Given the description of an element on the screen output the (x, y) to click on. 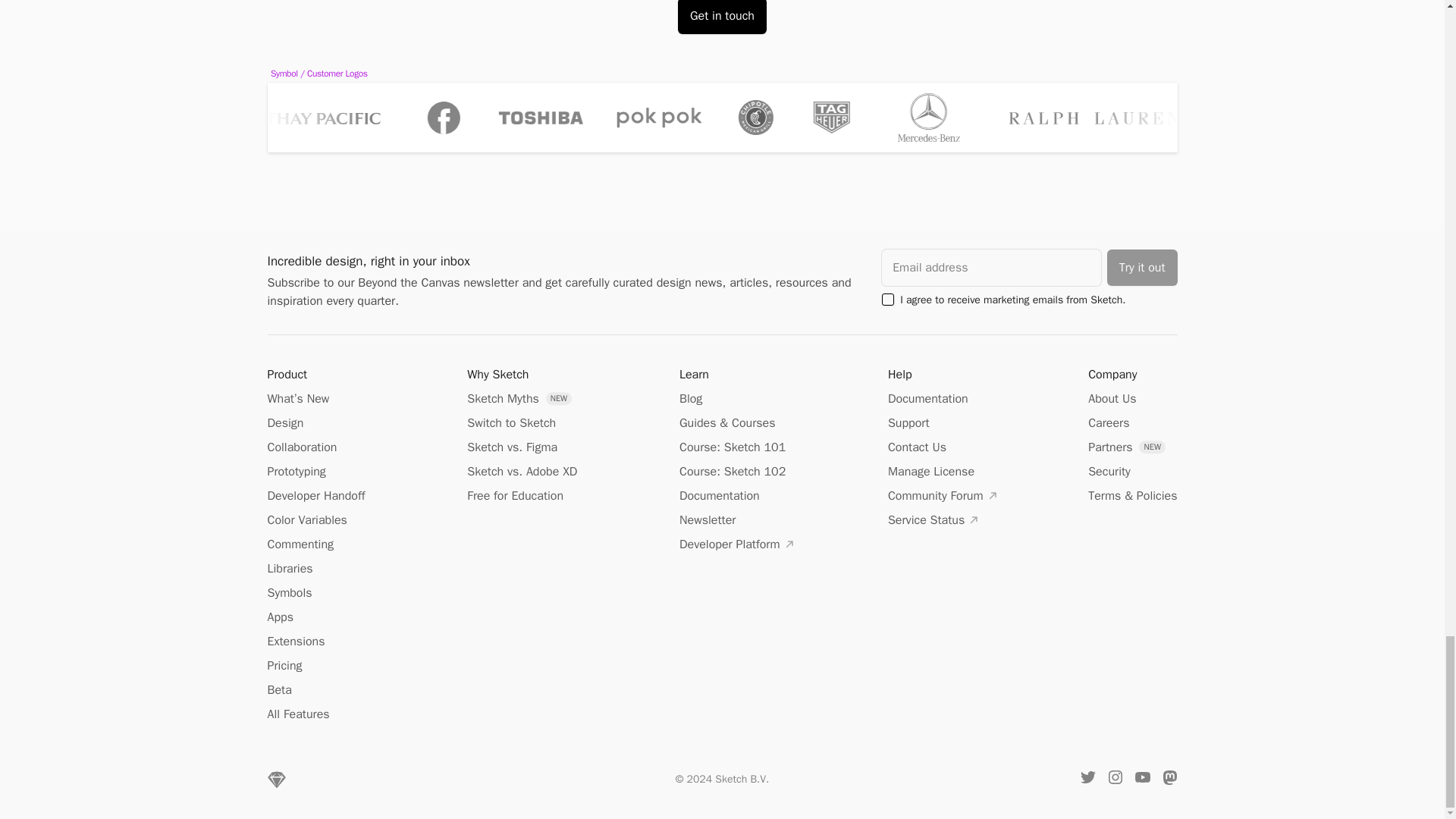
on (887, 299)
